Given the description of an element on the screen output the (x, y) to click on. 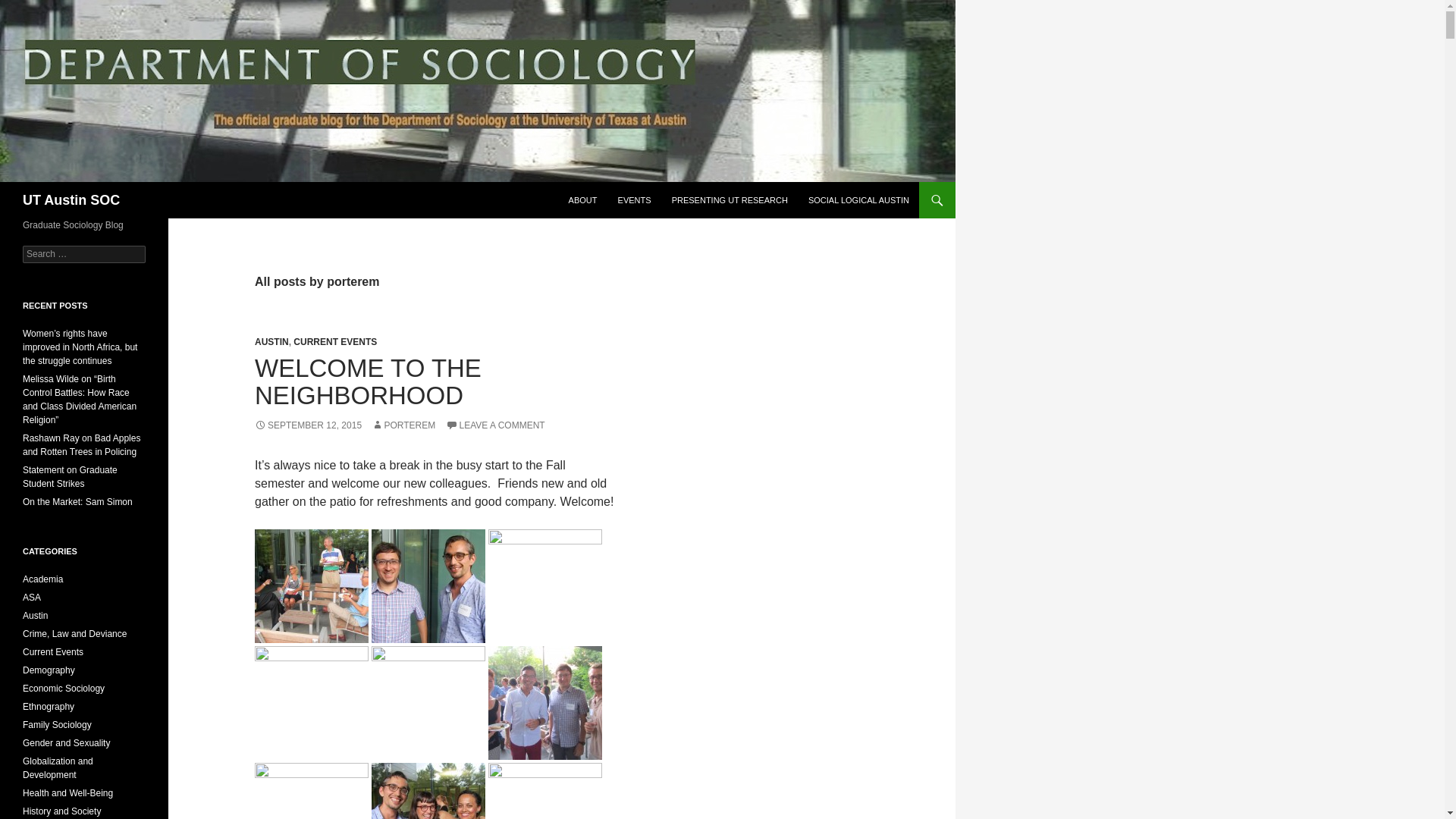
EVENTS (634, 199)
LEAVE A COMMENT (494, 425)
UT Austin SOC (71, 199)
AUSTIN (271, 341)
SOCIAL LOGICAL AUSTIN (858, 199)
PRESENTING UT RESEARCH (729, 199)
PORTEREM (403, 425)
ABOUT (583, 199)
WELCOME TO THE NEIGHBORHOOD (367, 381)
SEPTEMBER 12, 2015 (307, 425)
CURRENT EVENTS (335, 341)
